Given the description of an element on the screen output the (x, y) to click on. 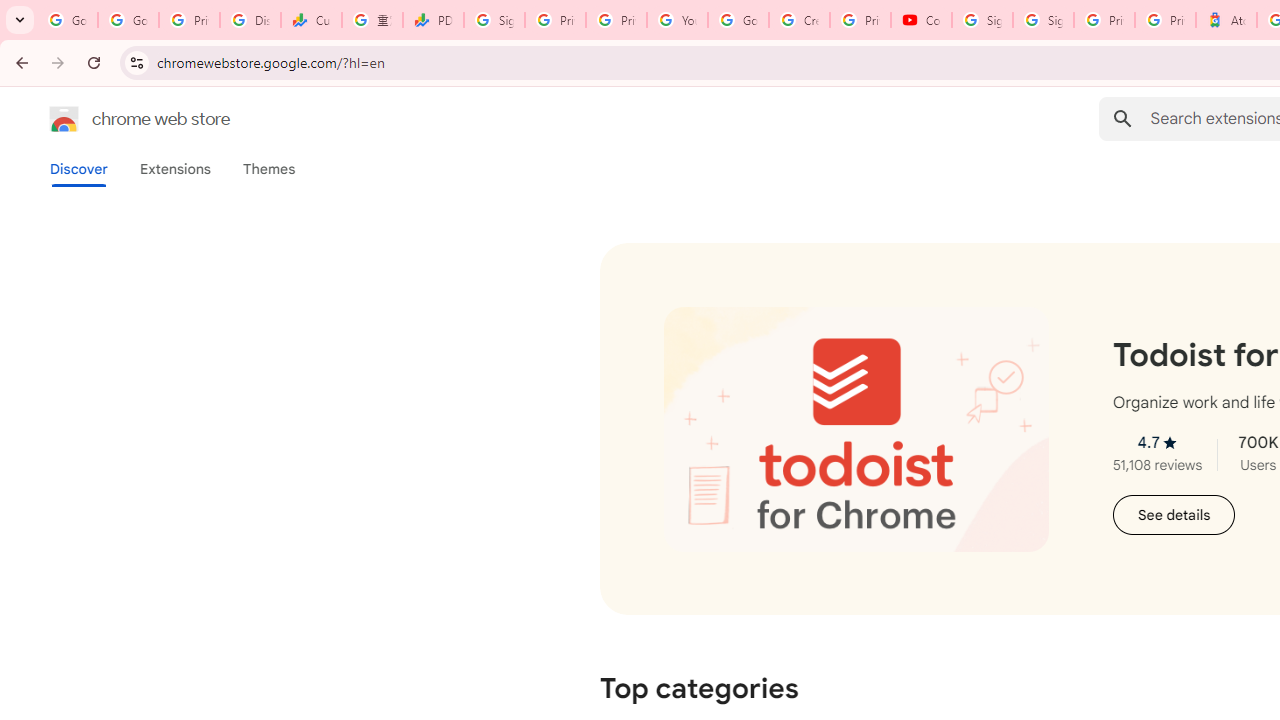
Sign in - Google Accounts (982, 20)
